Given the description of an element on the screen output the (x, y) to click on. 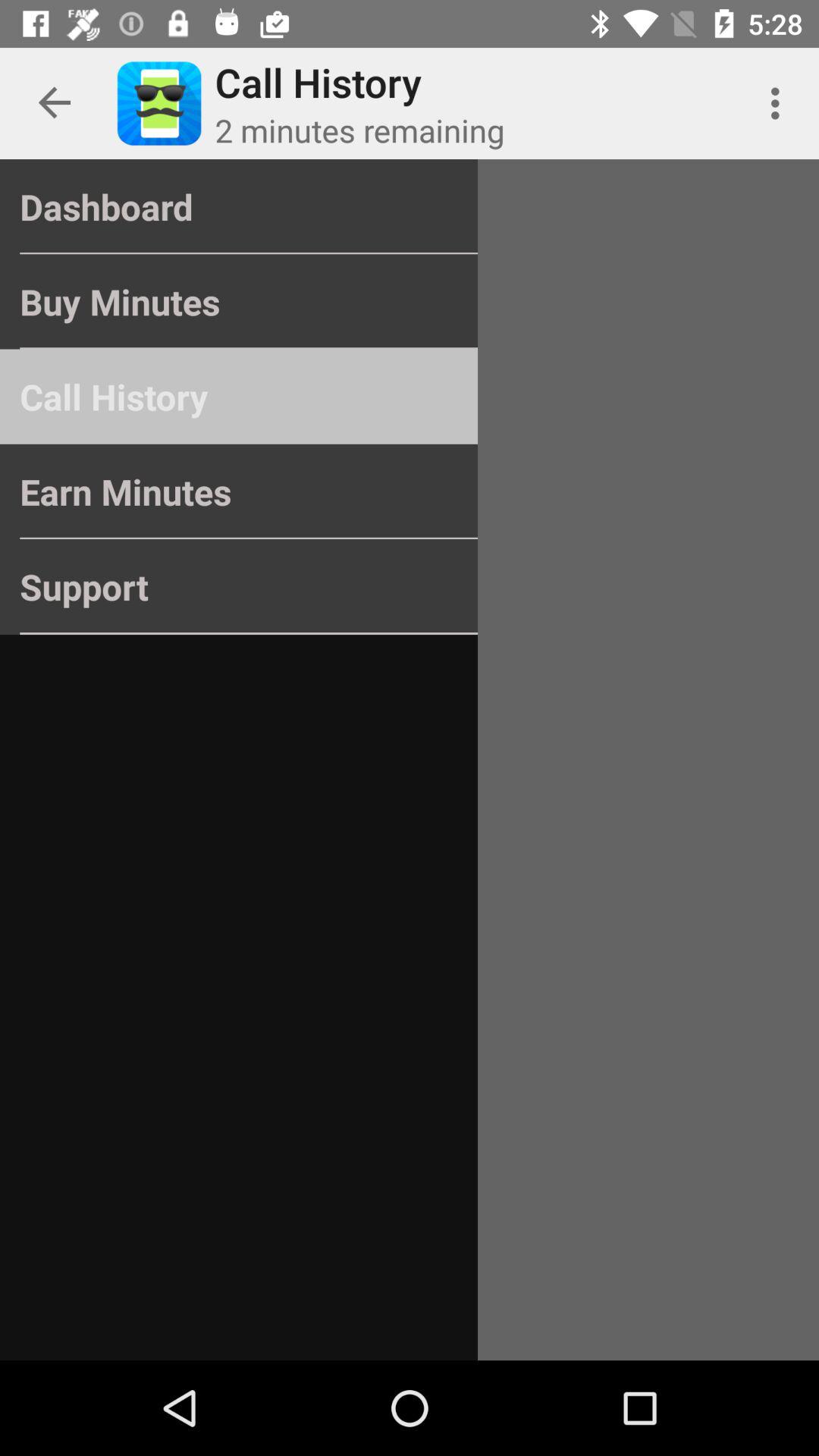
select the support icon (238, 586)
